Given the description of an element on the screen output the (x, y) to click on. 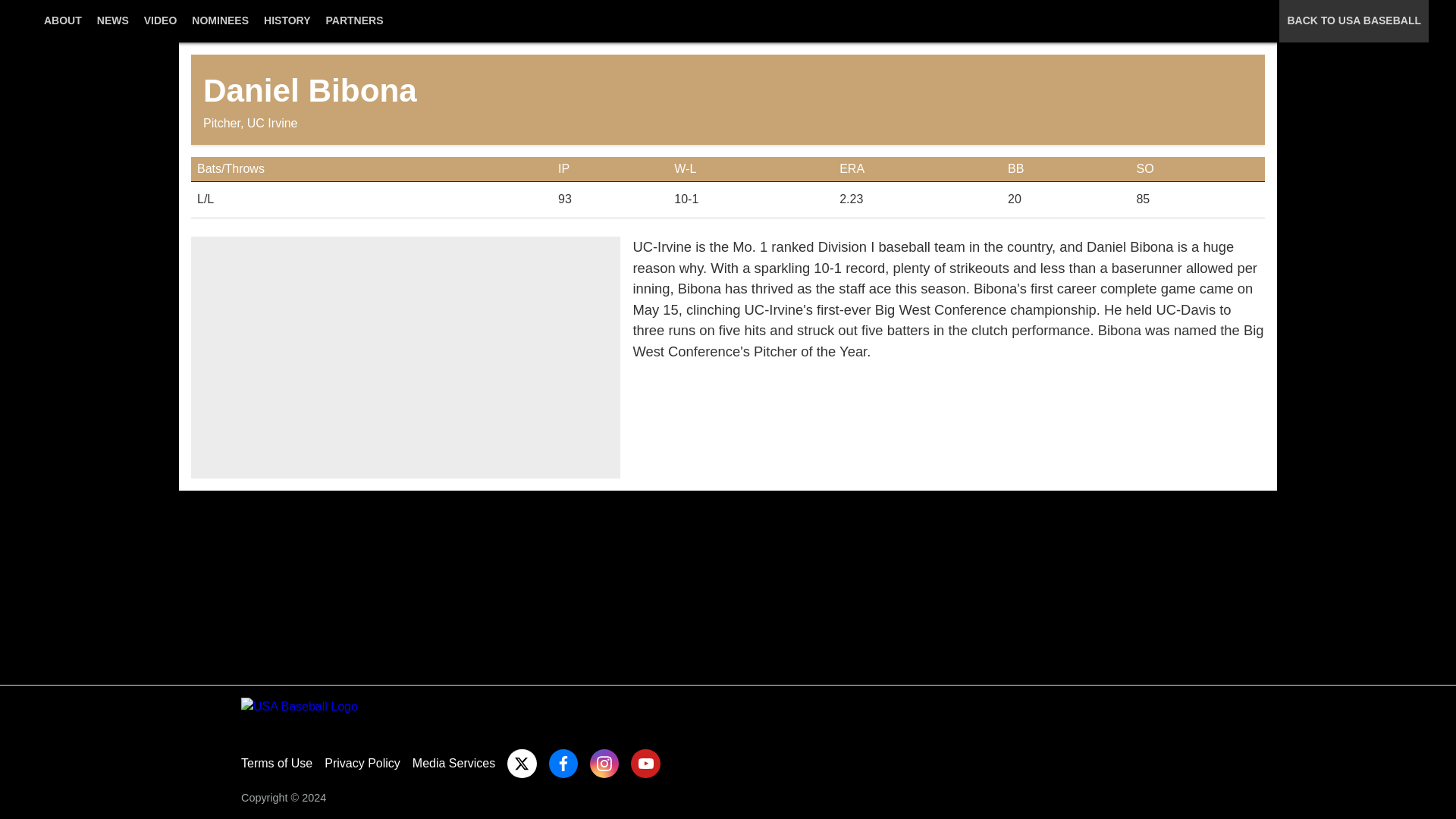
HISTORY (286, 28)
Privacy Policy (362, 762)
Terms of Use (277, 762)
BACK TO USA BASEBALL (1353, 28)
PARTNERS (354, 28)
NOMINEES (220, 28)
ABOUT (62, 28)
